Given the description of an element on the screen output the (x, y) to click on. 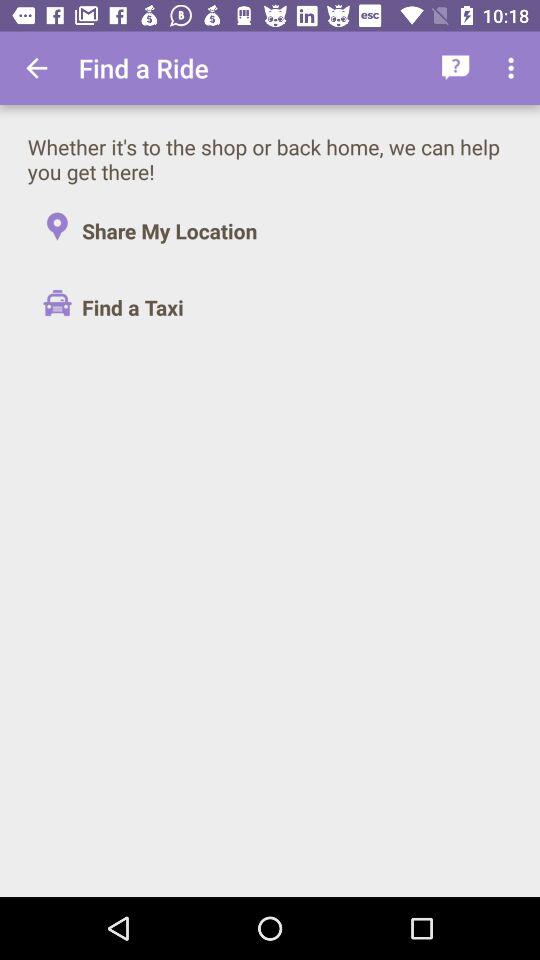
launch item above whether it s item (36, 68)
